Given the description of an element on the screen output the (x, y) to click on. 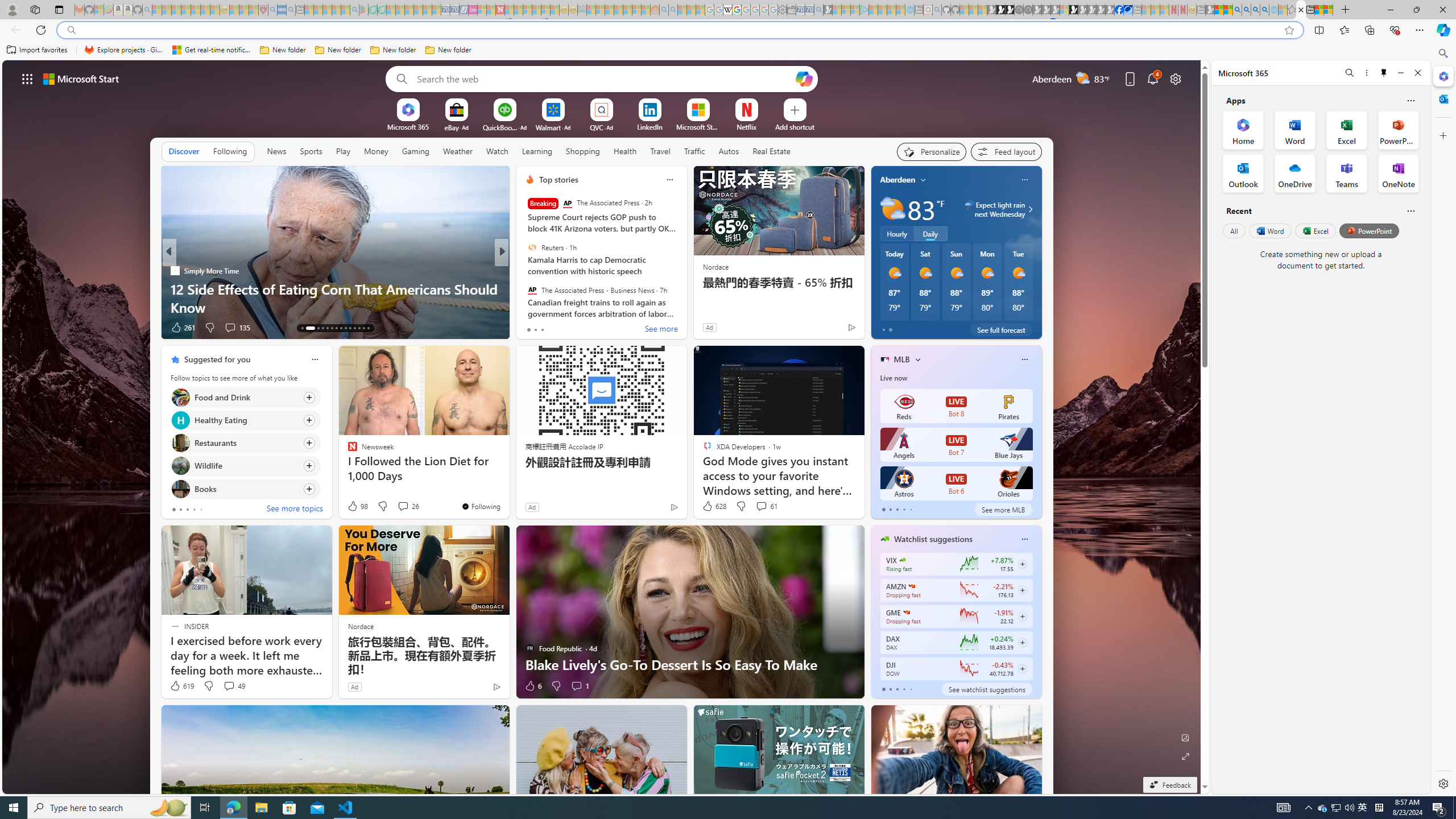
View comments 308 Comment (225, 327)
View comments 3 Comment (580, 327)
2k Like (530, 327)
tab-4 (910, 689)
Microsoft start (81, 78)
PowerPoint Office App (1398, 129)
1k Like (180, 327)
I Lost 88 Pounds With These 4 Simple Binge-Busting Tips (684, 298)
186 Like (532, 327)
